Given the description of an element on the screen output the (x, y) to click on. 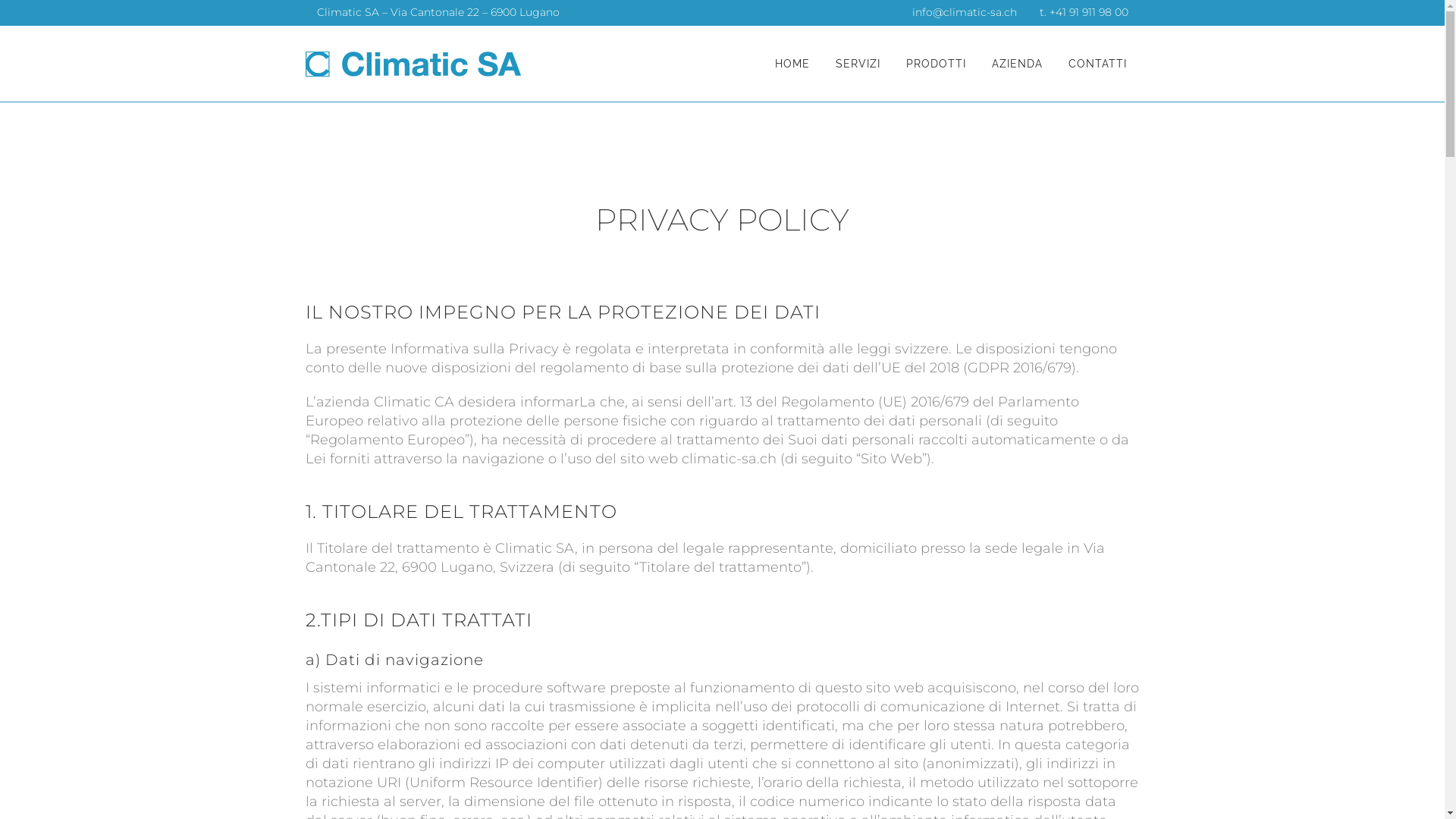
Cookie Element type: text (759, 500)
SERVIZI Element type: text (857, 63)
info@climatic-sa.ch Element type: text (590, 481)
Lea Visual Designer Element type: text (749, 807)
CONTATTI Element type: text (1097, 63)
Privacy Policy Element type: text (779, 481)
info@climatic-sa.ch Element type: text (963, 11)
HOME Element type: text (791, 63)
PRODOTTI Element type: text (936, 63)
AZIENDA Element type: text (1016, 63)
